Given the description of an element on the screen output the (x, y) to click on. 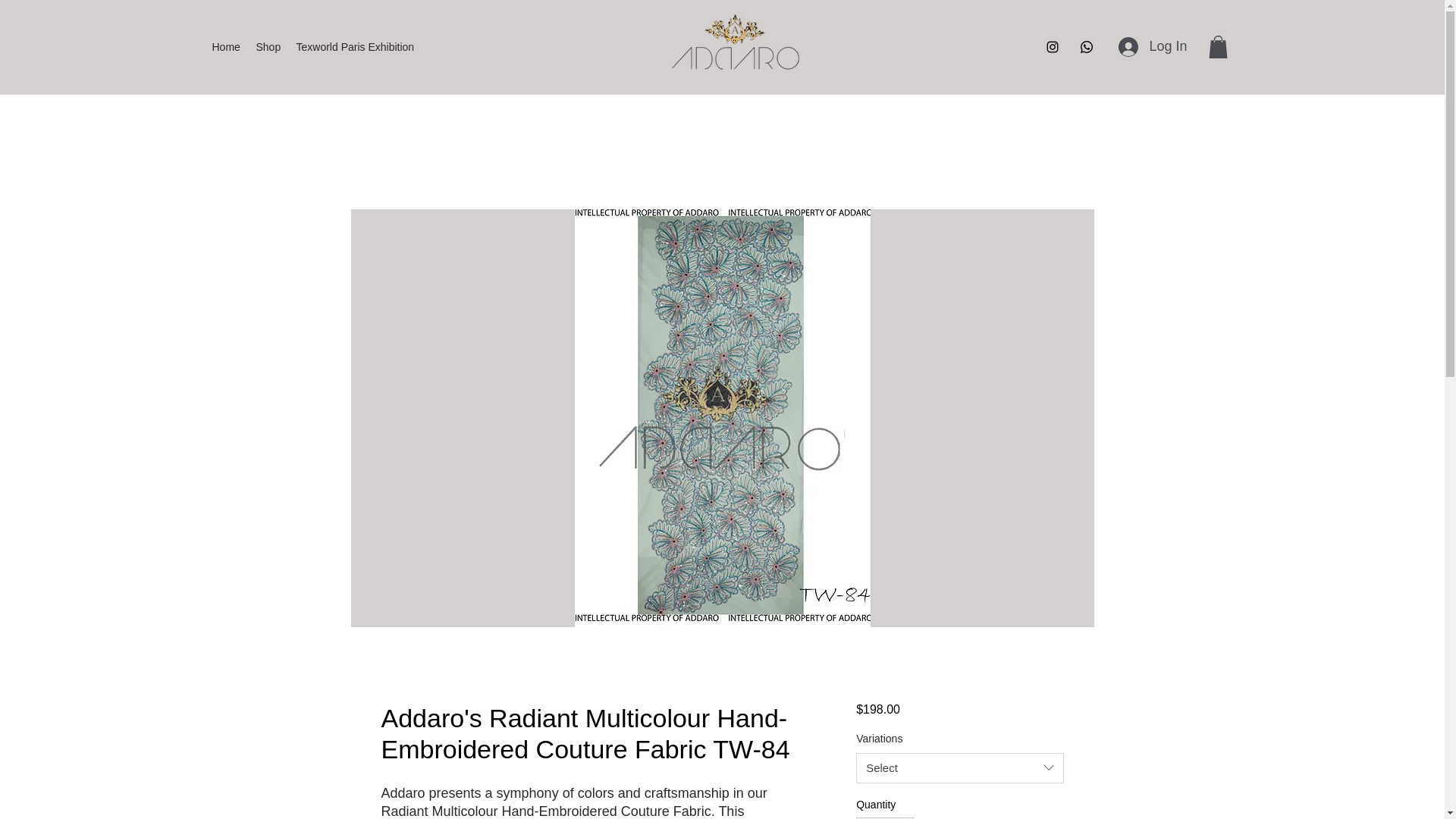
Log In (1152, 46)
Shop (268, 47)
Texworld Paris Exhibition (354, 47)
Select (959, 767)
1 (885, 818)
Home (226, 47)
